Given the description of an element on the screen output the (x, y) to click on. 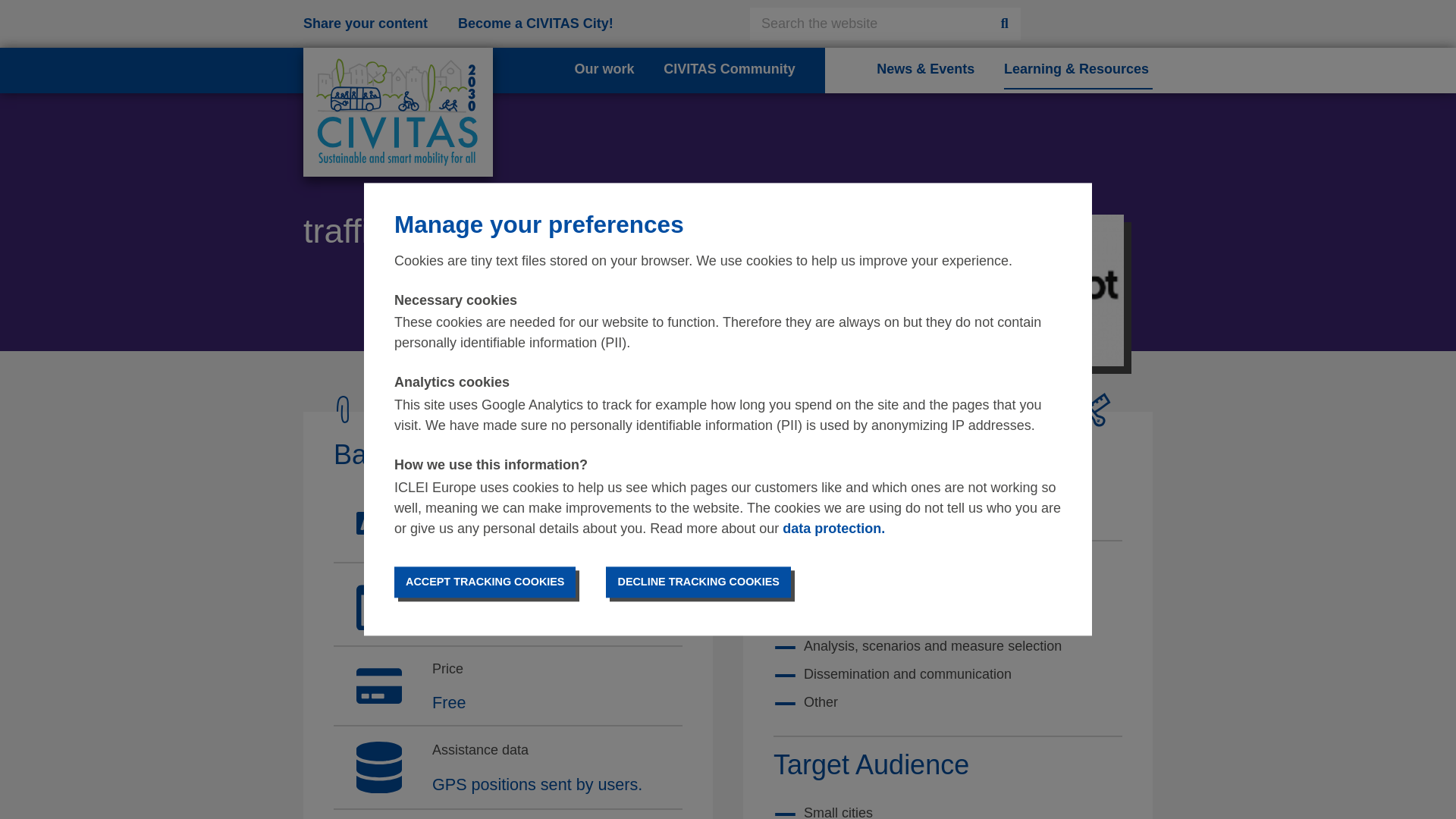
Become a CIVITAS City! (535, 23)
Home (397, 111)
Share your content (365, 23)
Apply (1005, 23)
Apply (1005, 23)
Home (397, 70)
